Given the description of an element on the screen output the (x, y) to click on. 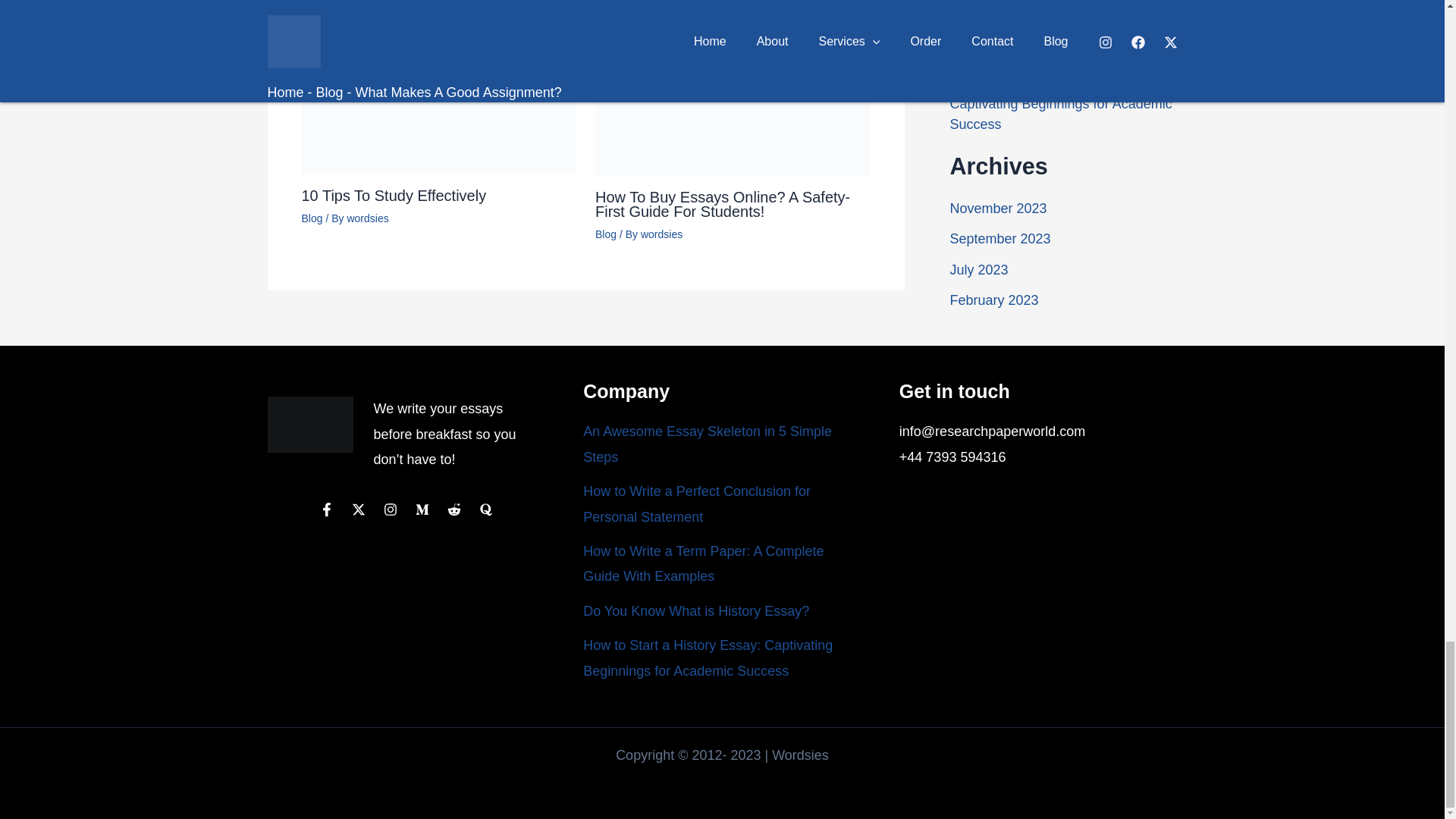
View all posts by wordsies (661, 234)
View all posts by wordsies (367, 218)
